Given the description of an element on the screen output the (x, y) to click on. 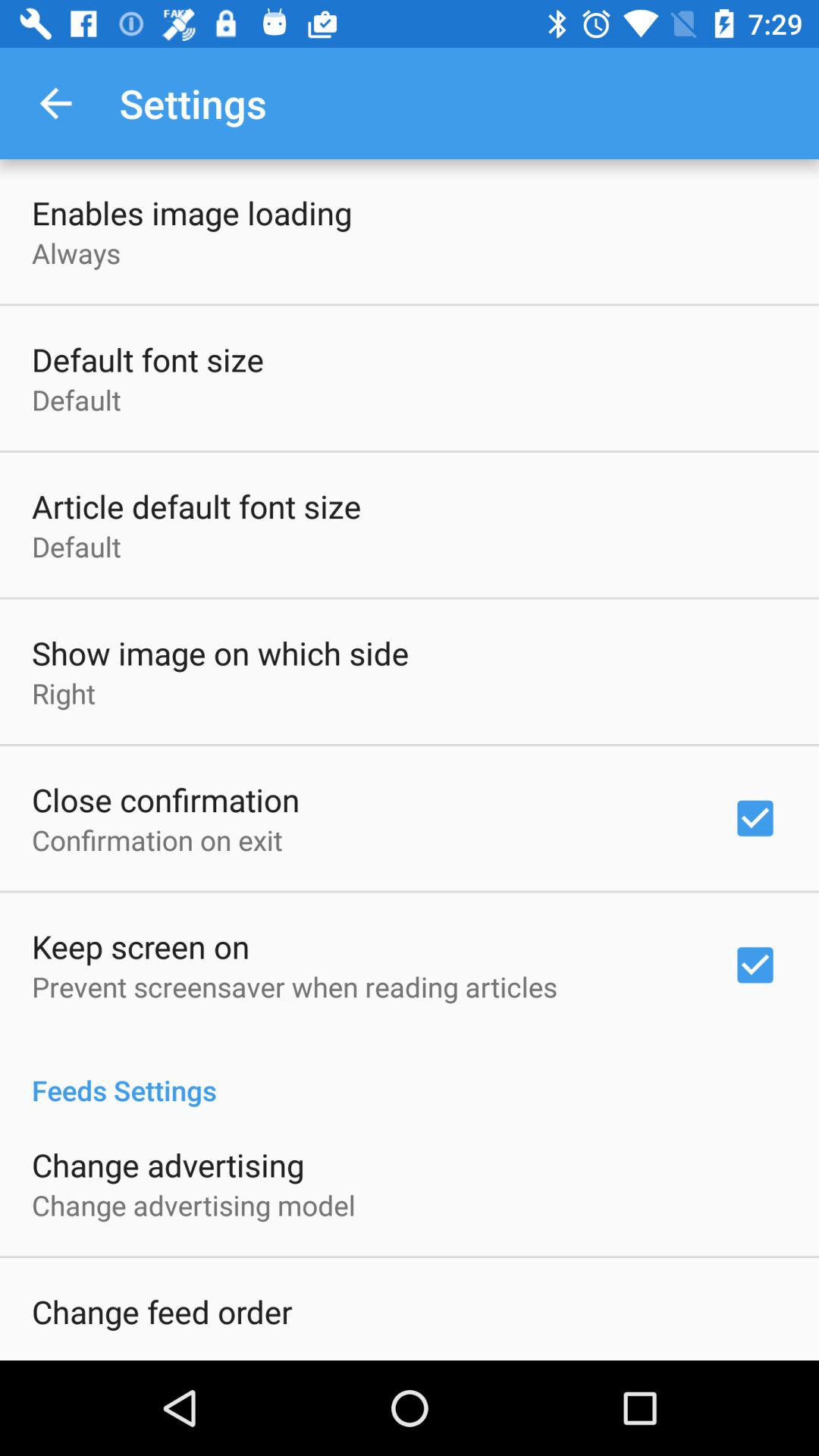
select item below the prevent screensaver when item (409, 1074)
